Given the description of an element on the screen output the (x, y) to click on. 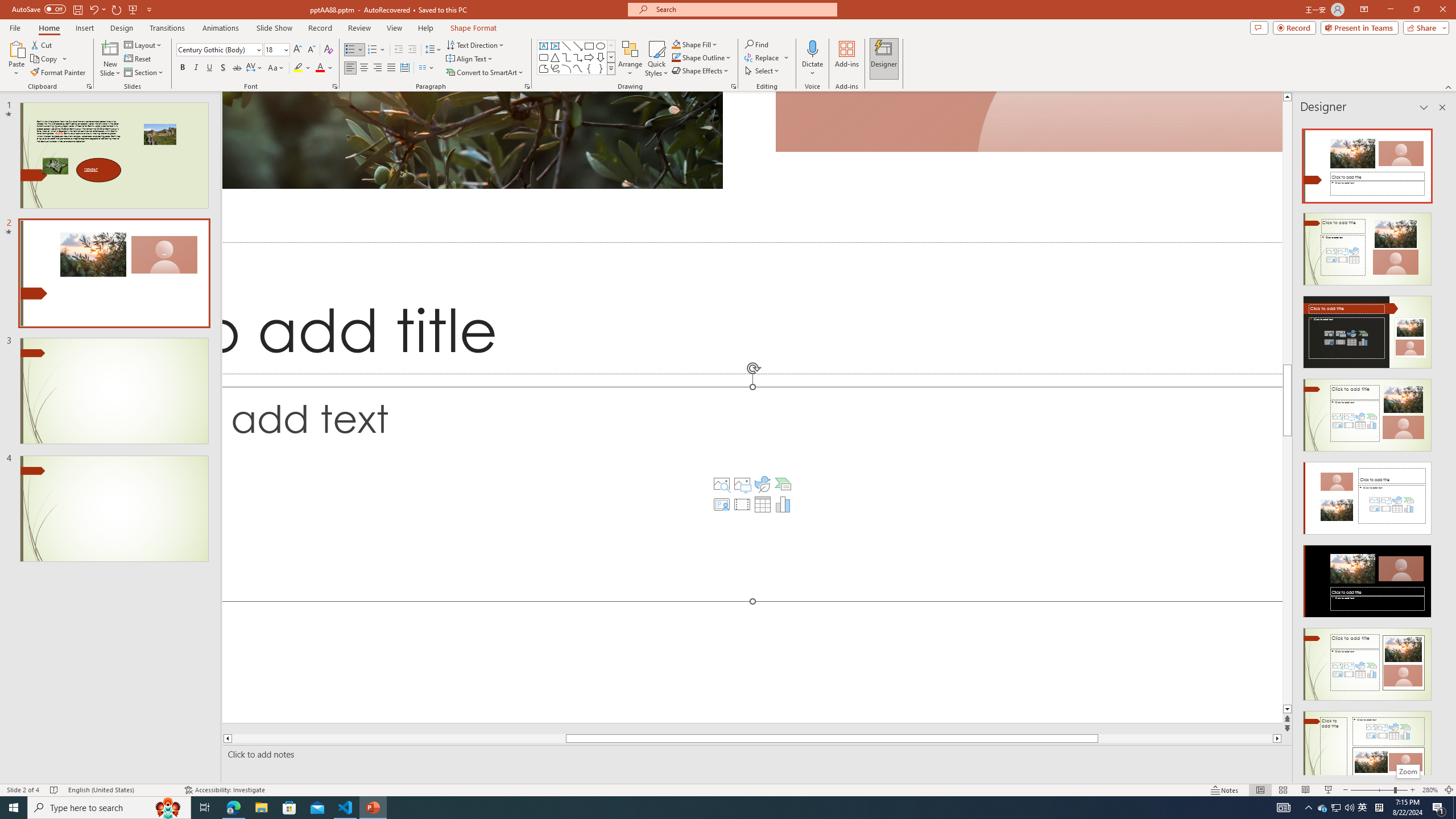
Shadow (223, 67)
Dictate (812, 48)
Review (359, 28)
Copy (45, 58)
Accessibility Checker Accessibility: Investigate (224, 790)
Spell Check No Errors (54, 790)
Copy (49, 58)
Freeform: Scribble (554, 68)
Connector: Elbow Arrow (577, 57)
Page down (1287, 570)
Paste (16, 58)
